Given the description of an element on the screen output the (x, y) to click on. 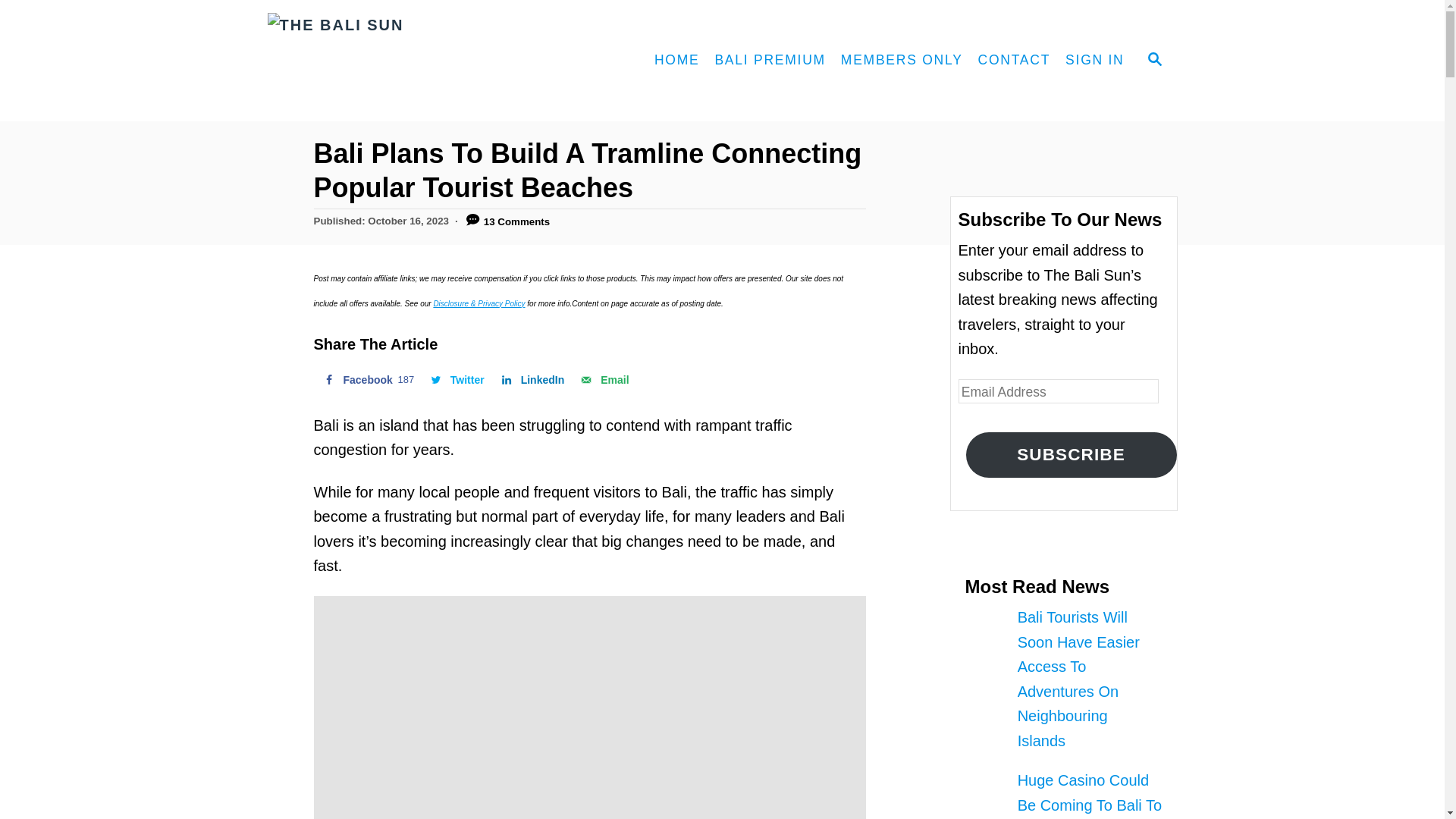
Share on LinkedIn (532, 379)
Share on Facebook (367, 379)
SEARCH (1153, 60)
Share on Twitter (456, 379)
Send over email (602, 379)
LinkedIn (532, 379)
Twitter (456, 379)
Email (367, 379)
SIGN IN (602, 379)
MEMBERS ONLY (1094, 60)
CONTACT (901, 60)
HOME (1014, 60)
BALI PREMIUM (676, 60)
The Bali Sun (769, 60)
